Given the description of an element on the screen output the (x, y) to click on. 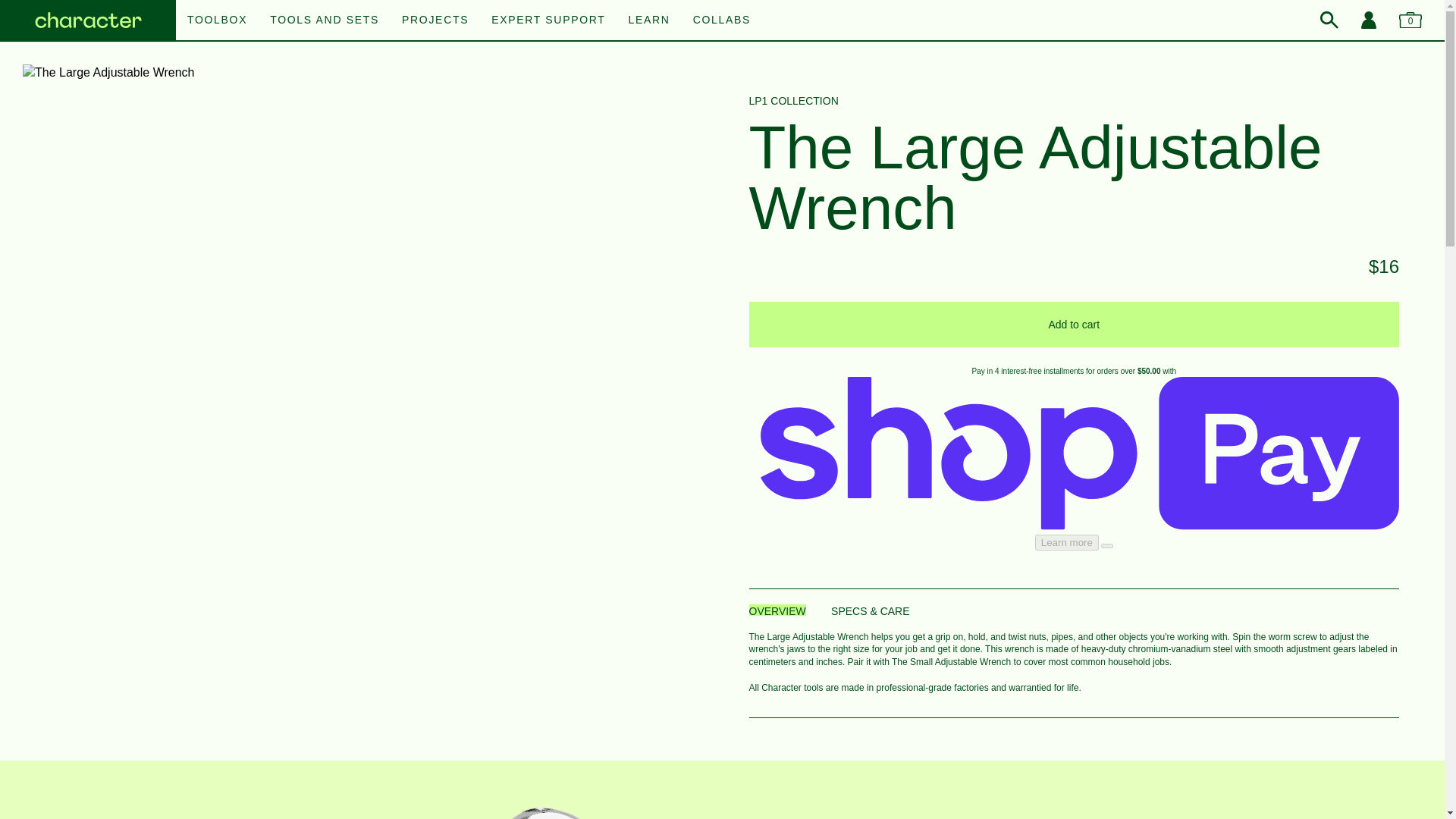
Login (1368, 20)
PROJECTS (434, 19)
0 (1409, 19)
TOOLBOX (217, 19)
LEARN (648, 19)
Home (88, 20)
Character Logo (88, 20)
SHOP ALL TOOLS AND SETS (721, 10)
EXPERT SUPPORT (548, 19)
COLLABS (722, 19)
Character Logo (88, 20)
SHOP ALL COLLABS (722, 10)
TOOLS AND SETS (323, 19)
